Given the description of an element on the screen output the (x, y) to click on. 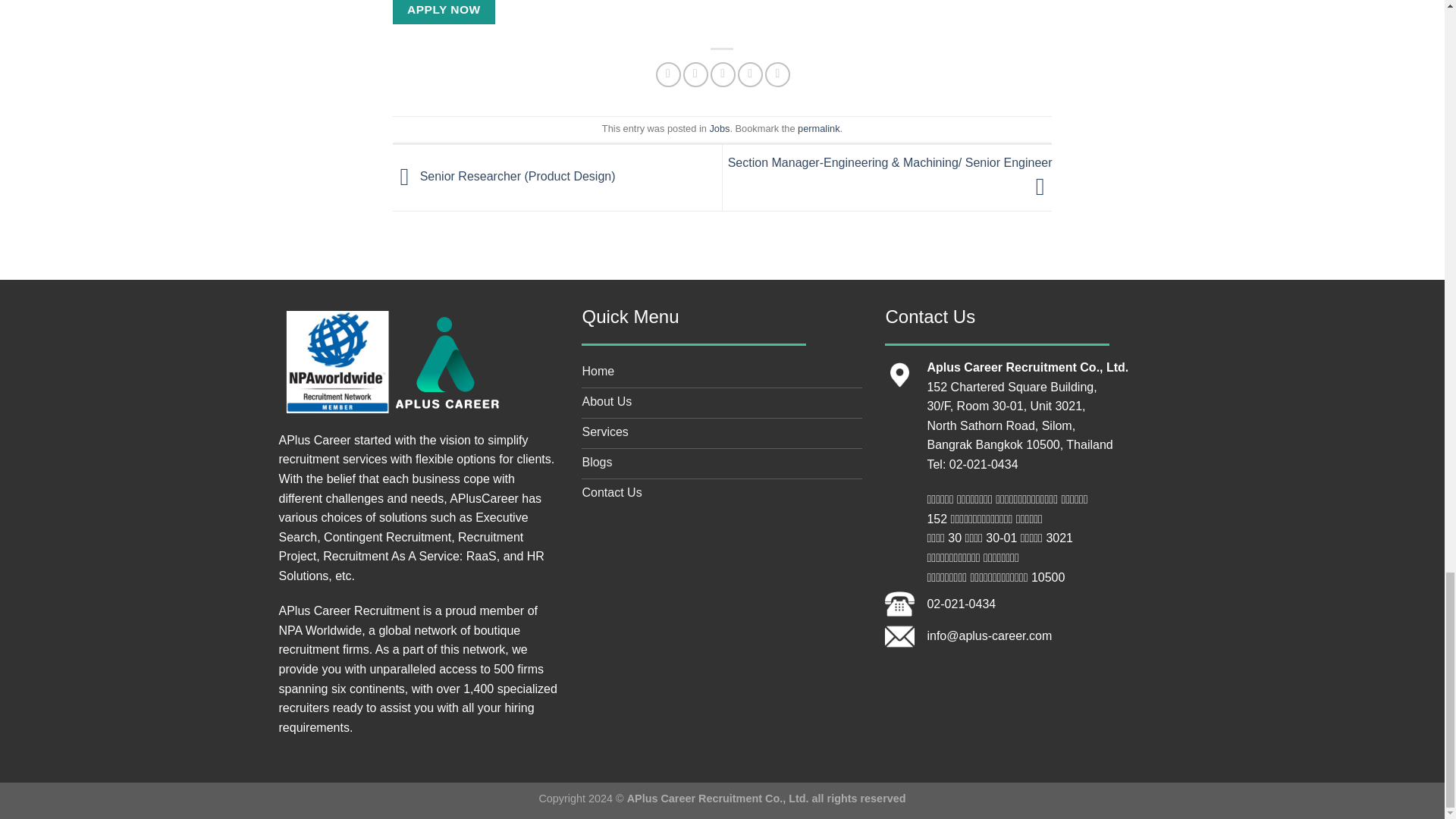
Services (720, 433)
Share on LinkedIn (777, 74)
APPLY NOW (444, 12)
Jobs (719, 128)
permalink (818, 128)
About Us (720, 403)
Contact Us (720, 494)
02-021-0434 (960, 603)
Blogs (720, 463)
Pin on Pinterest (750, 74)
Permalink to Internal Lawyer (818, 128)
Share on Facebook (668, 74)
Home (720, 372)
Share on Twitter (694, 74)
Email to a Friend (722, 74)
